Given the description of an element on the screen output the (x, y) to click on. 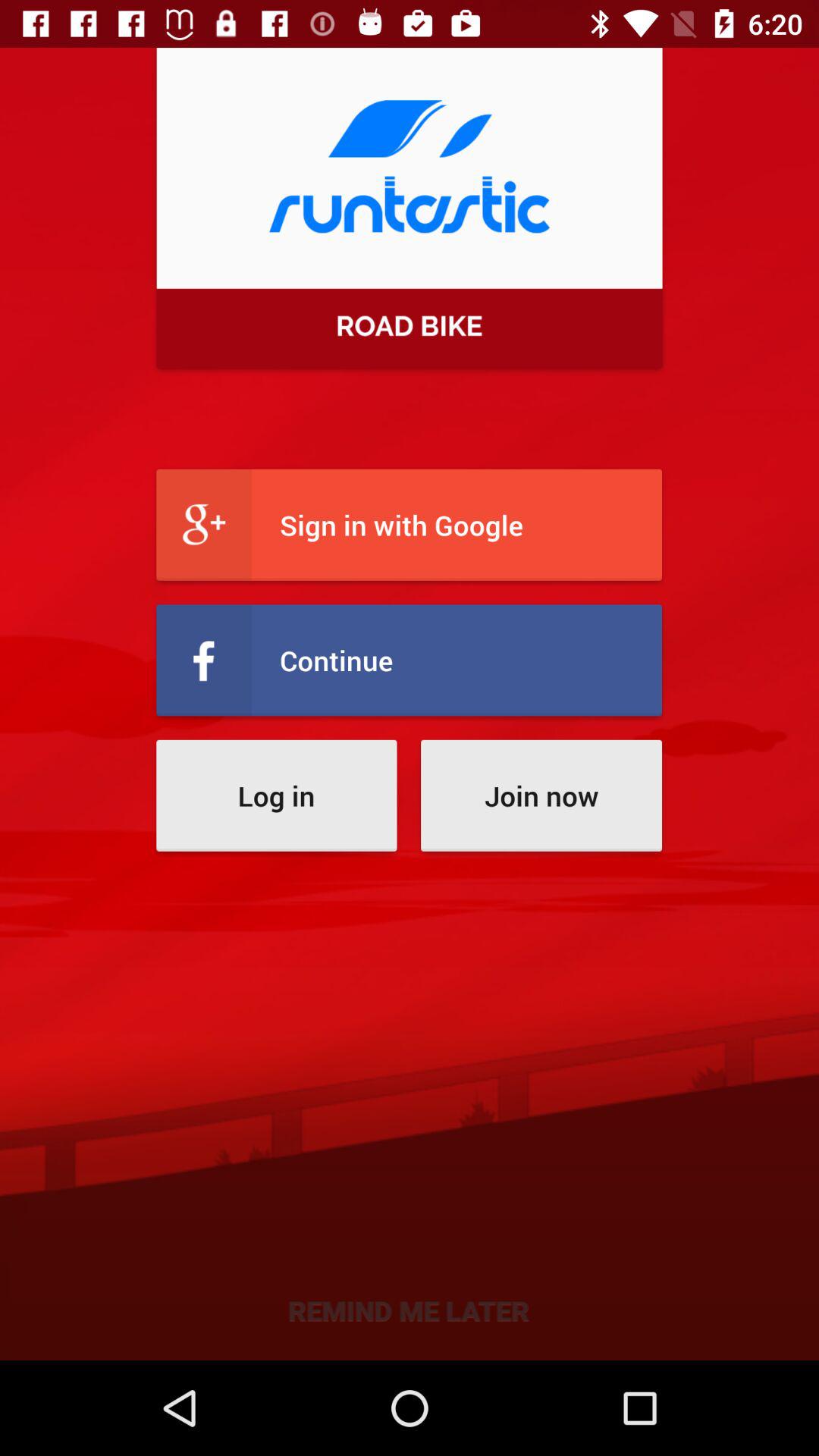
turn off remind me later (409, 1309)
